Given the description of an element on the screen output the (x, y) to click on. 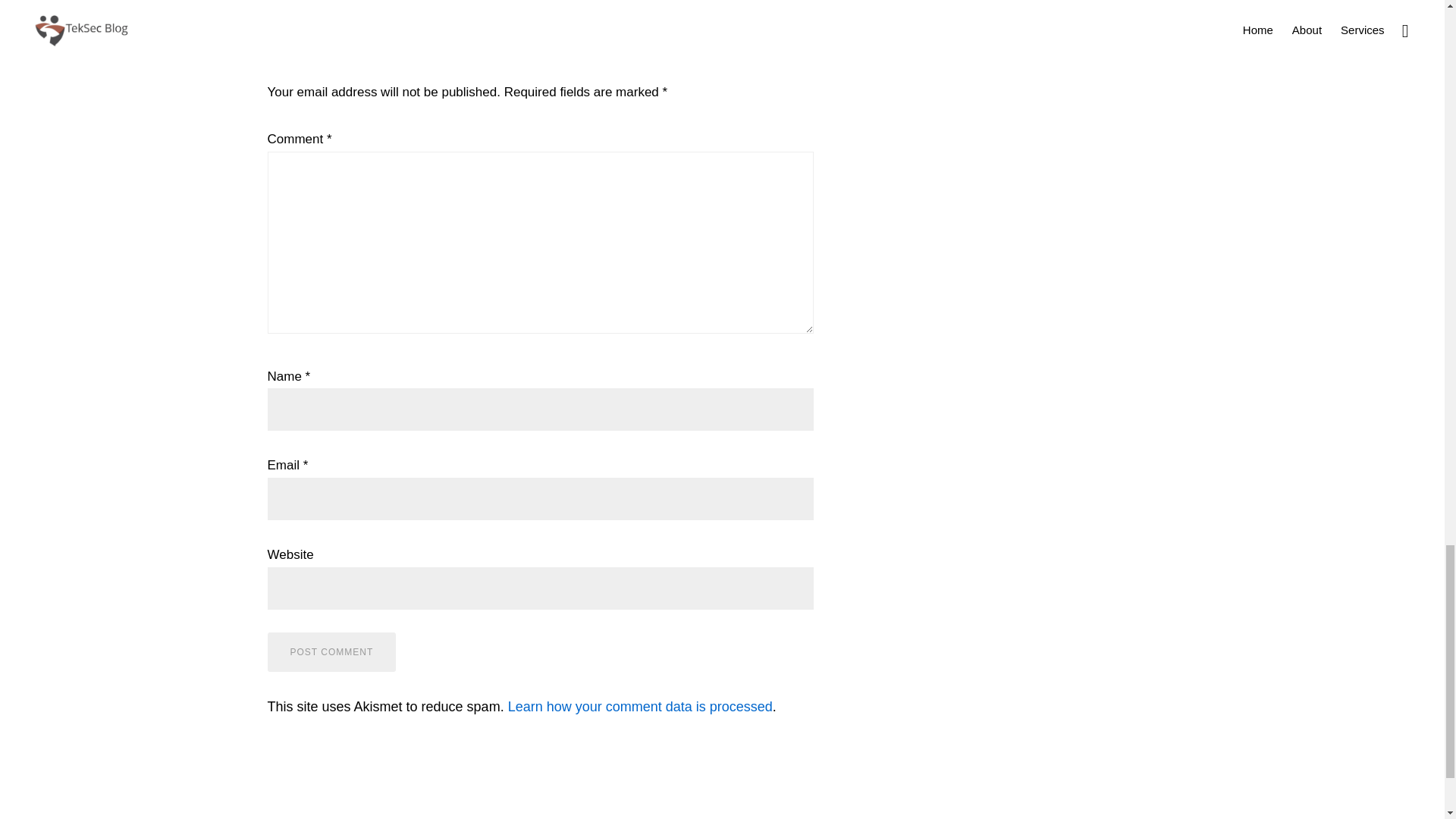
Post Comment (331, 651)
Post Comment (331, 651)
